Given the description of an element on the screen output the (x, y) to click on. 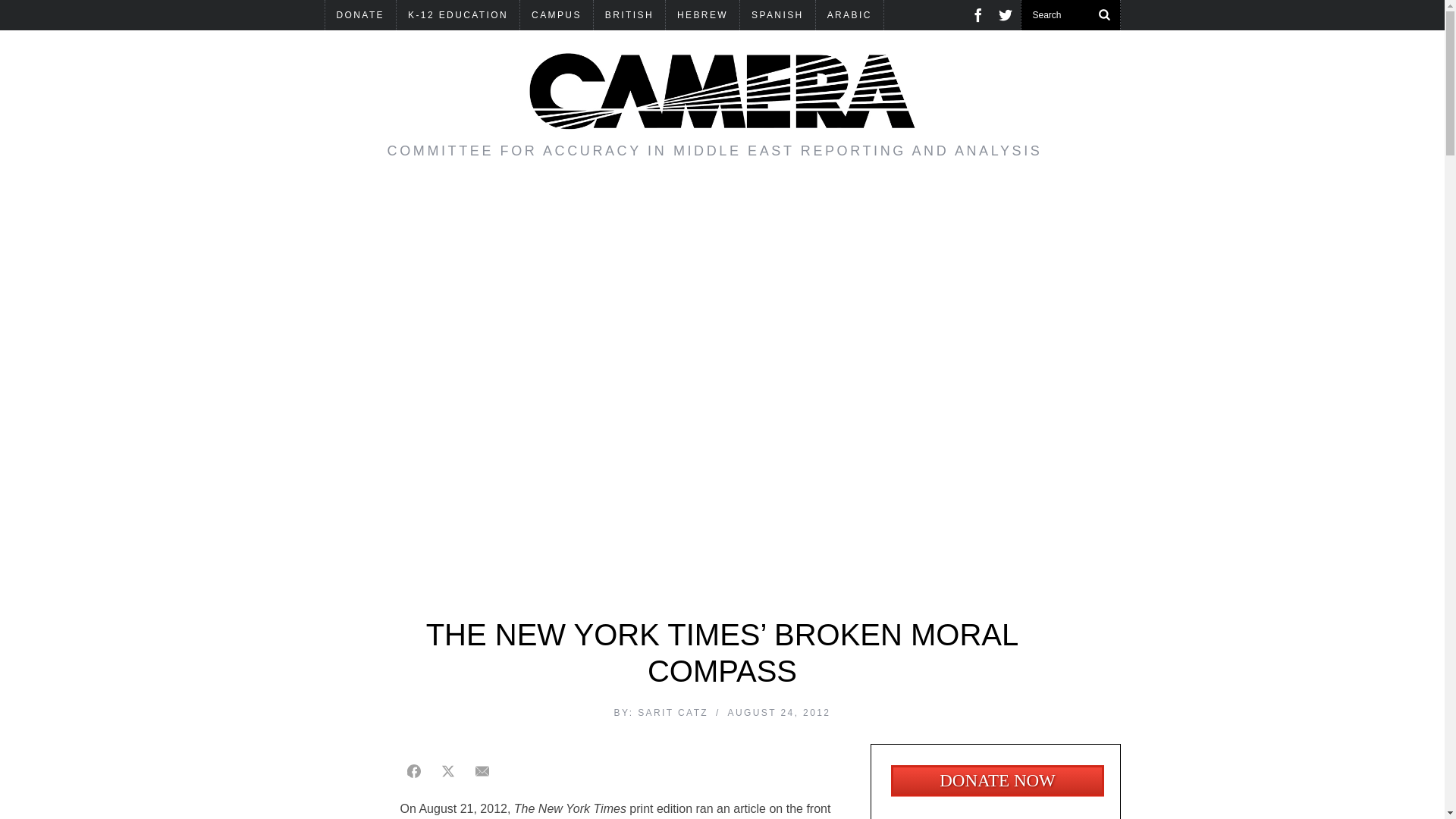
CAMPUS (555, 14)
K-12 EDUCATION (457, 14)
HEBREW (702, 14)
Share on Twitter (447, 770)
ARABIC (849, 14)
DONATE (360, 14)
Share on E-mail (482, 770)
Search (1070, 15)
BRITISH (629, 14)
